Given the description of an element on the screen output the (x, y) to click on. 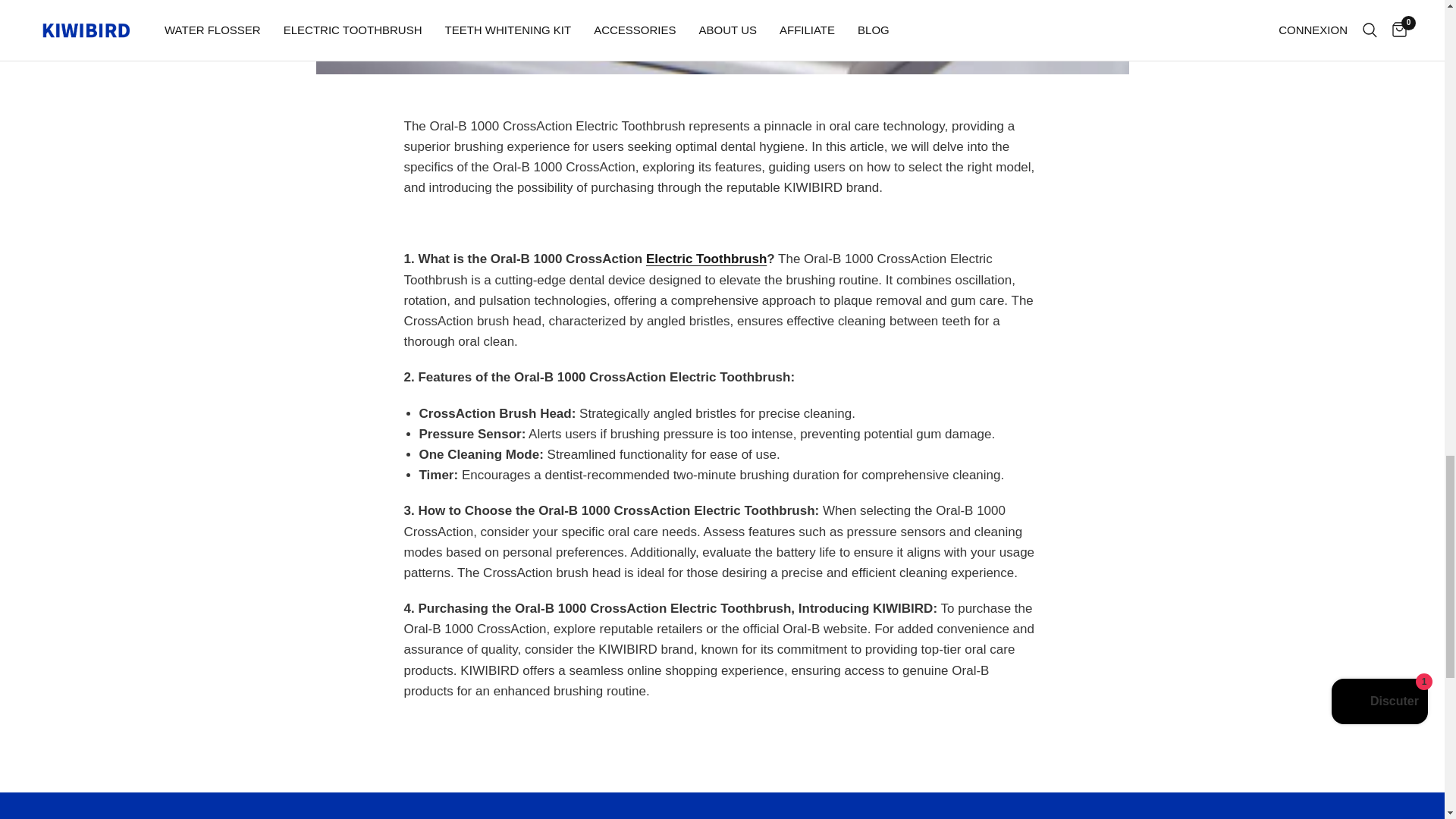
Electric Toothbrush (706, 258)
Electric Toothbrush (706, 258)
